Given the description of an element on the screen output the (x, y) to click on. 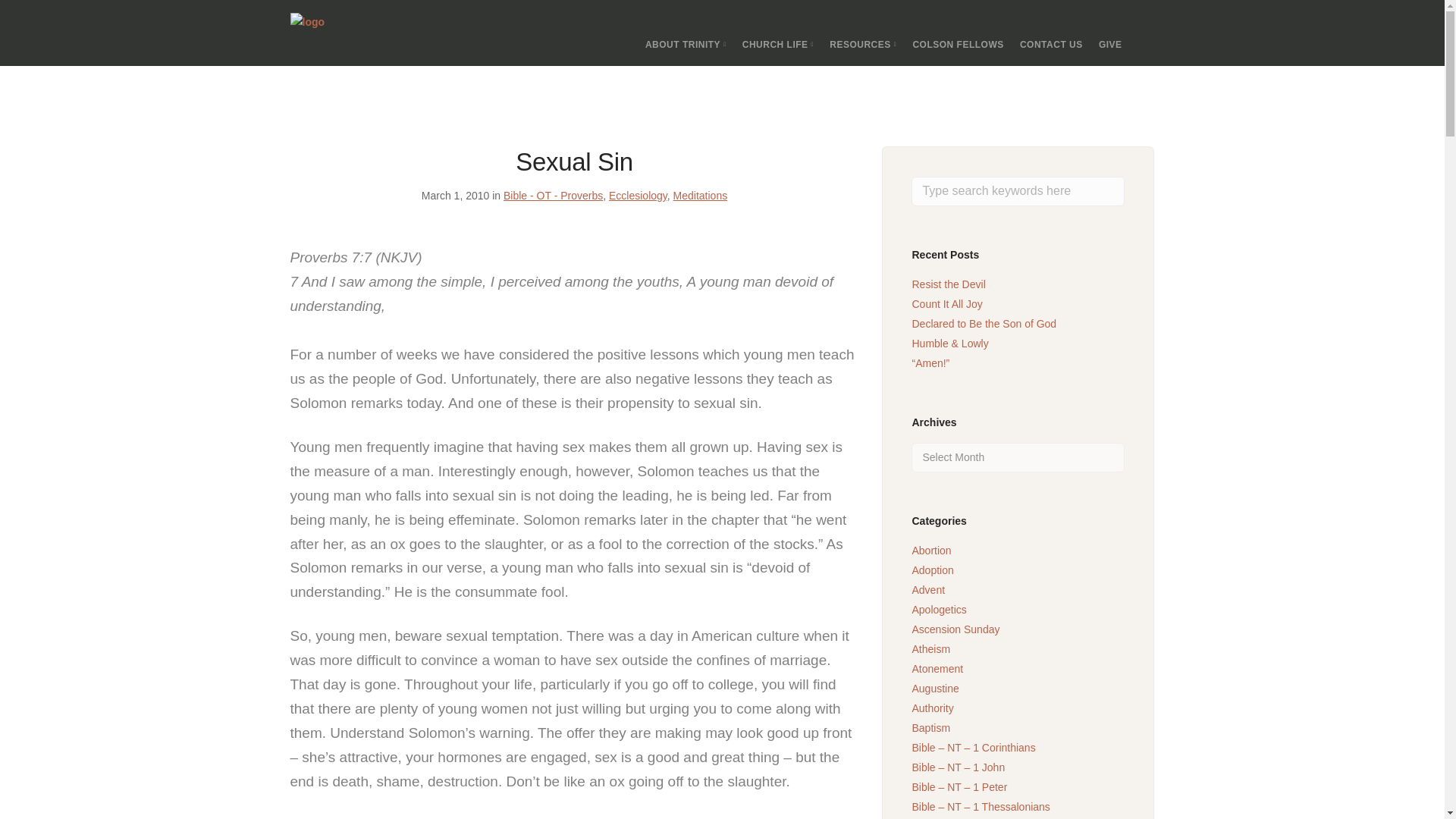
Declared to Be the Son of God (984, 323)
GIVE (1110, 44)
RESOURCES (862, 44)
Ecclesiology (637, 195)
Meditations (700, 195)
ABOUT TRINITY (685, 44)
Abortion (930, 550)
Adoption (932, 570)
Atheism (930, 648)
Bible - OT - Proverbs (552, 195)
Ascension Sunday (954, 629)
CHURCH LIFE (777, 44)
Advent (927, 589)
Apologetics (938, 609)
Count It All Joy (946, 304)
